Given the description of an element on the screen output the (x, y) to click on. 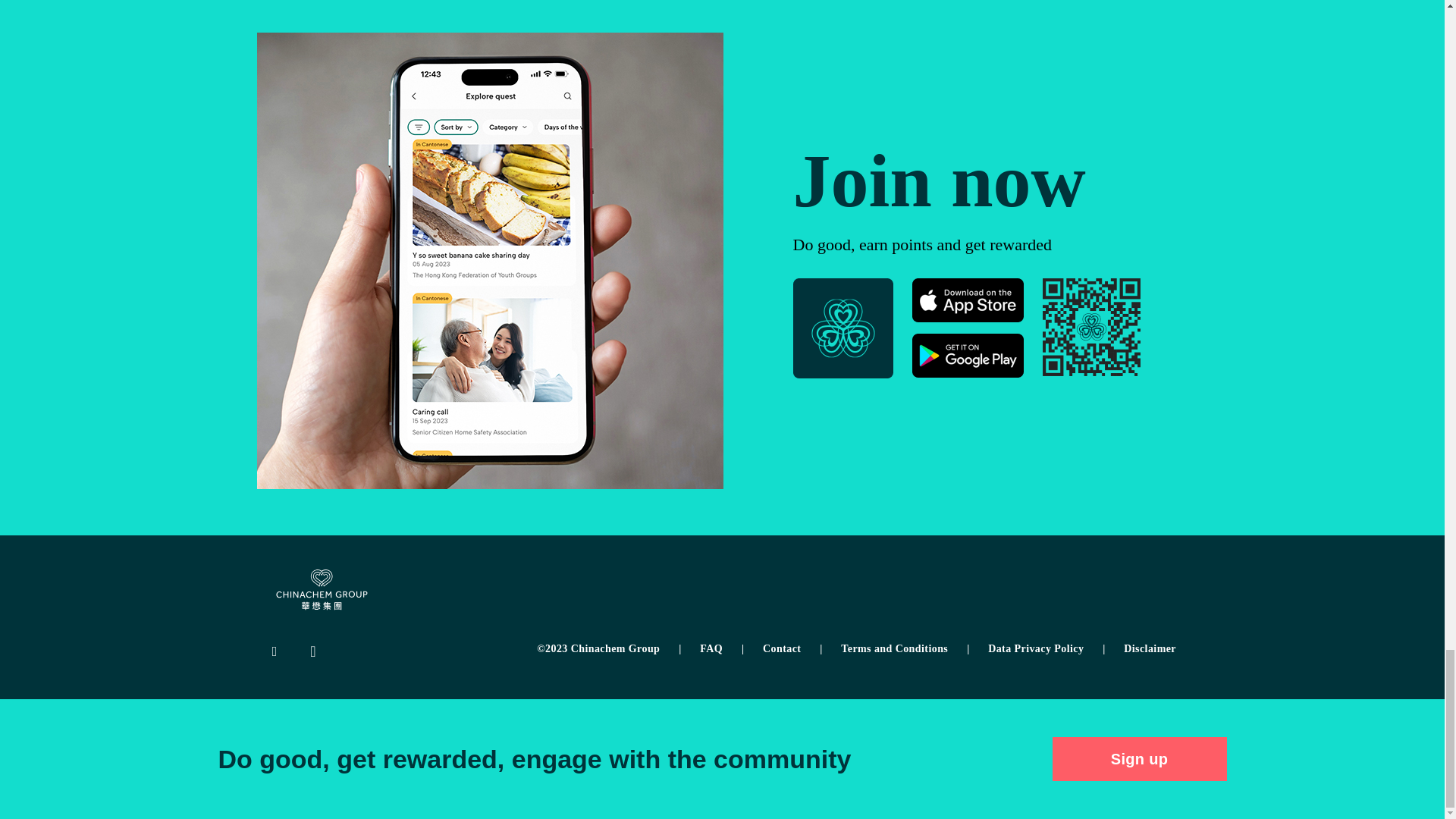
Terms and Conditions (905, 648)
Disclaimer (1150, 648)
FAQ (722, 648)
Contact (792, 648)
Data Privacy Policy (1046, 648)
